Given the description of an element on the screen output the (x, y) to click on. 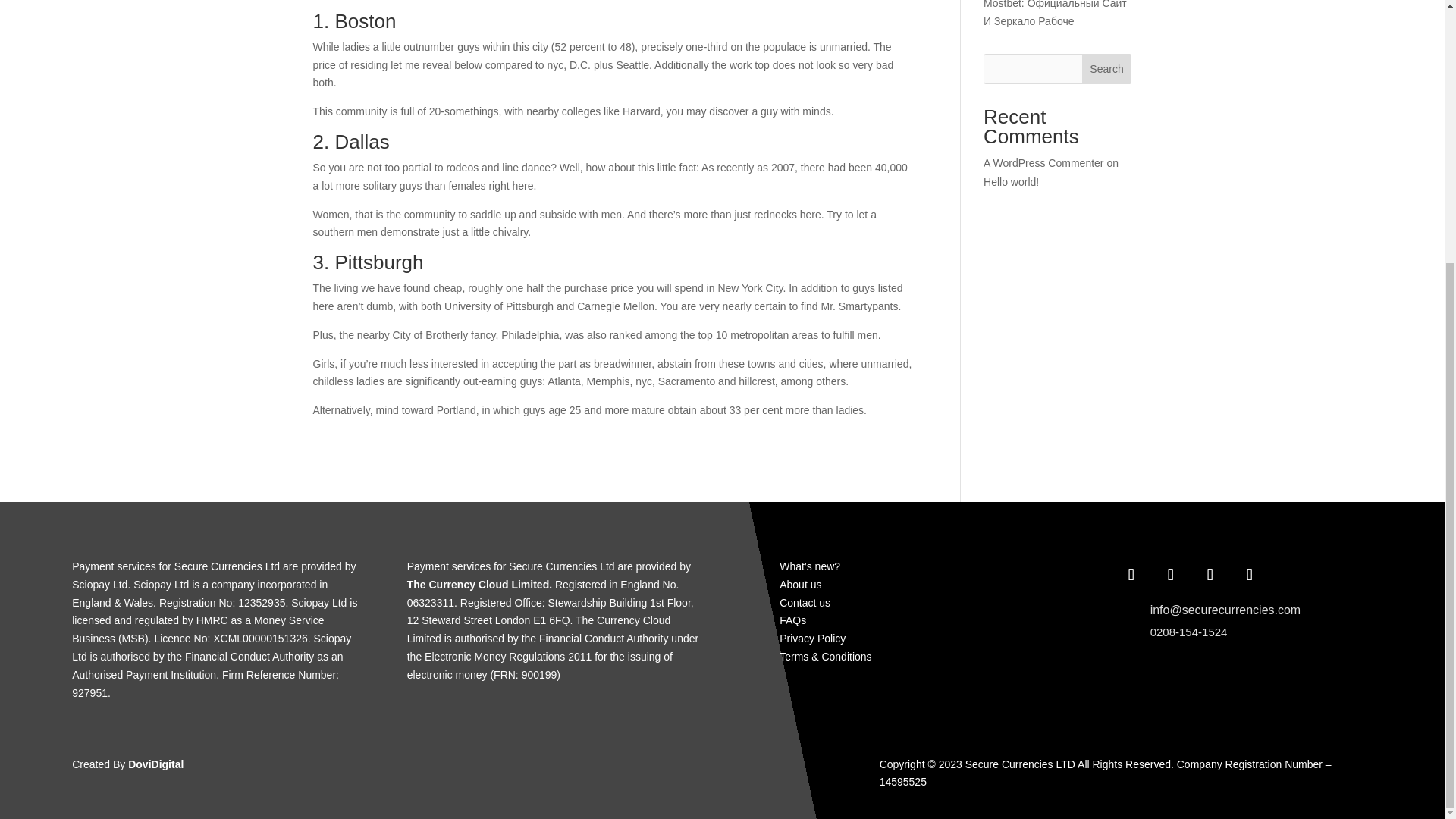
FAQs (792, 620)
The Currency Cloud Limited (477, 584)
Contact us (803, 603)
Search (1106, 69)
A WordPress Commenter (1043, 162)
About us (799, 584)
Follow on LinkedIn (1249, 574)
Follow on Instagram (1210, 574)
Follow on Facebook (1131, 574)
Hello world! (1011, 182)
